Given the description of an element on the screen output the (x, y) to click on. 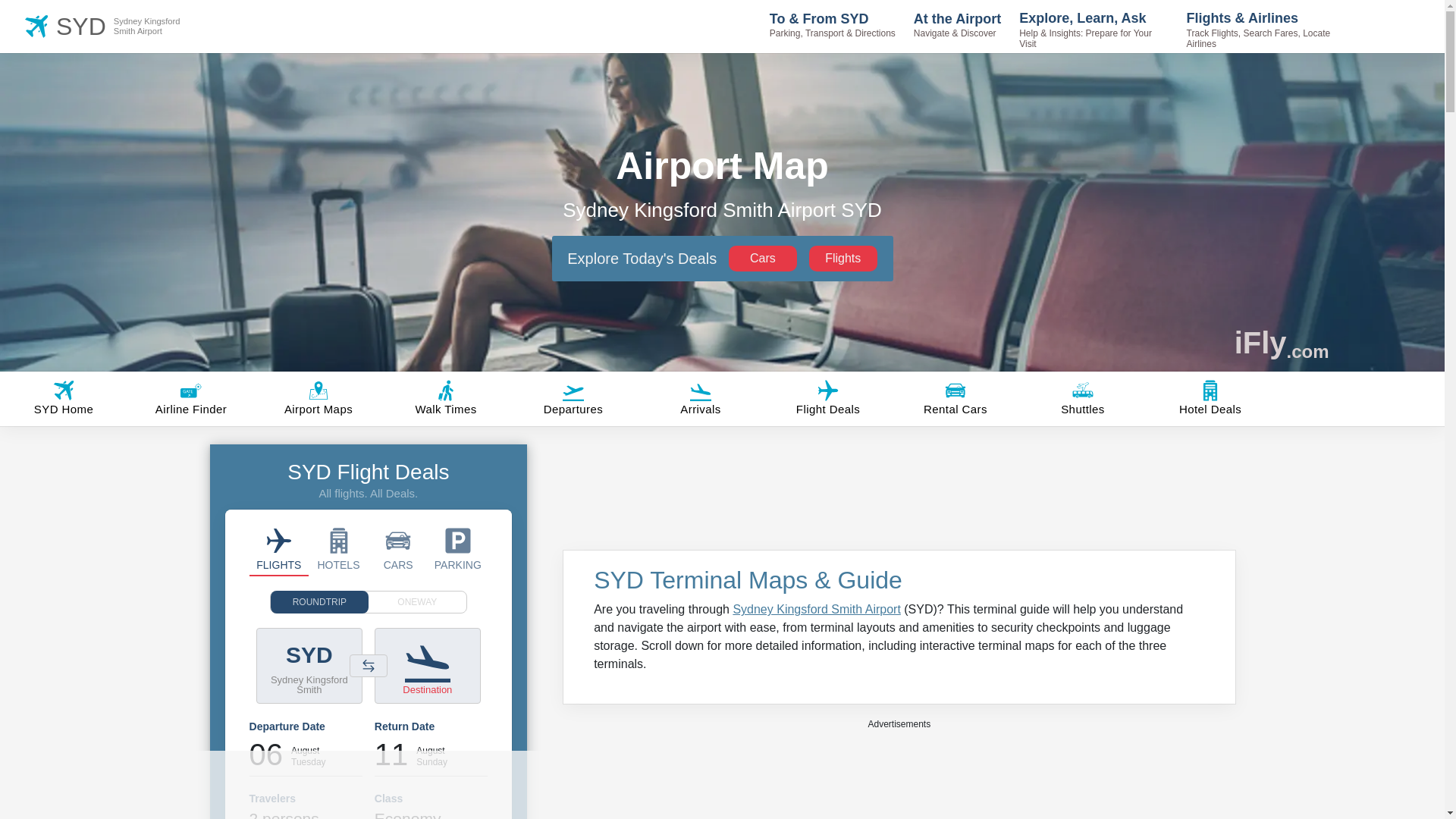
Flights (843, 258)
Cars (762, 258)
iFly.com (1281, 342)
Hotel Deals (338, 548)
SYD Flight Deals (278, 548)
Off-Airport Parking (457, 548)
Airport Rental Cars (127, 26)
